Given the description of an element on the screen output the (x, y) to click on. 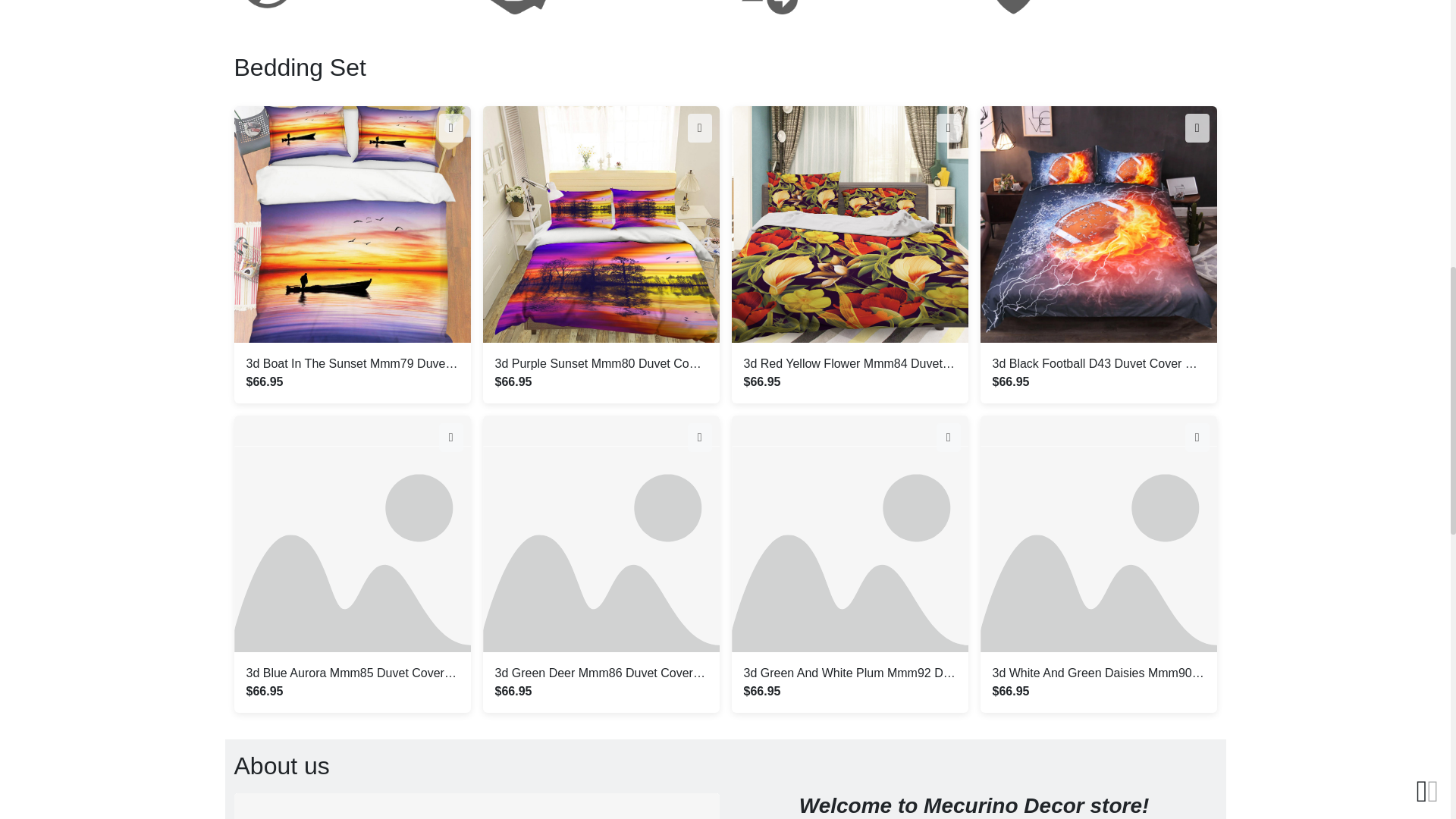
Easy Refunds (600, 7)
Safe Checkout (1098, 7)
Worldwide shipping (351, 7)
